Given the description of an element on the screen output the (x, y) to click on. 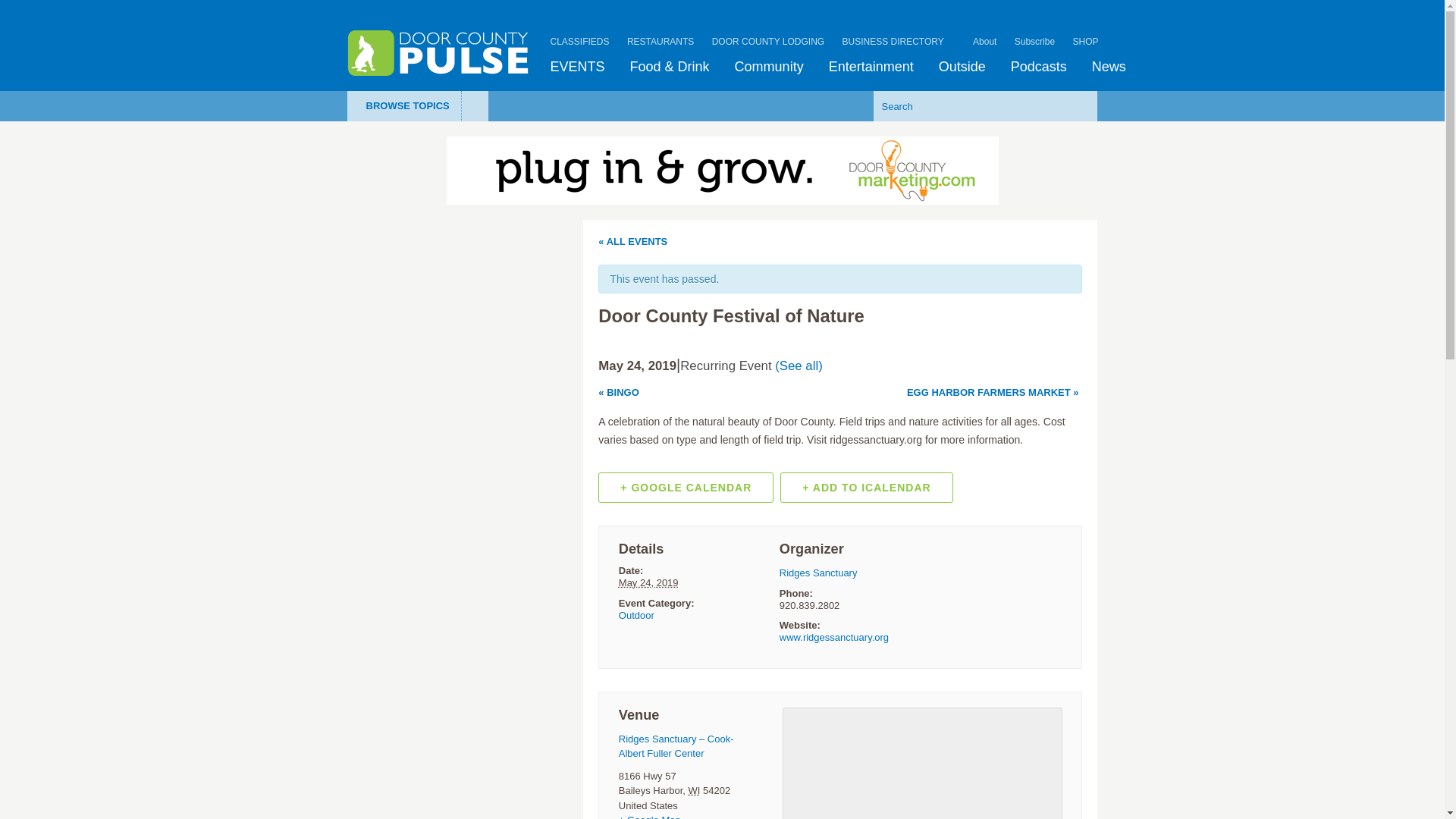
Add to Google Calendar (685, 487)
Outside (961, 66)
Door County Pulse (437, 53)
2019-05-24 (648, 582)
Entertainment (871, 66)
Wisconsin (694, 790)
Click to view a Google Map (649, 816)
Community (768, 66)
Ridges Sanctuary (817, 572)
EVENTS (577, 66)
Download .ics file (866, 487)
Search for: (962, 105)
